Given the description of an element on the screen output the (x, y) to click on. 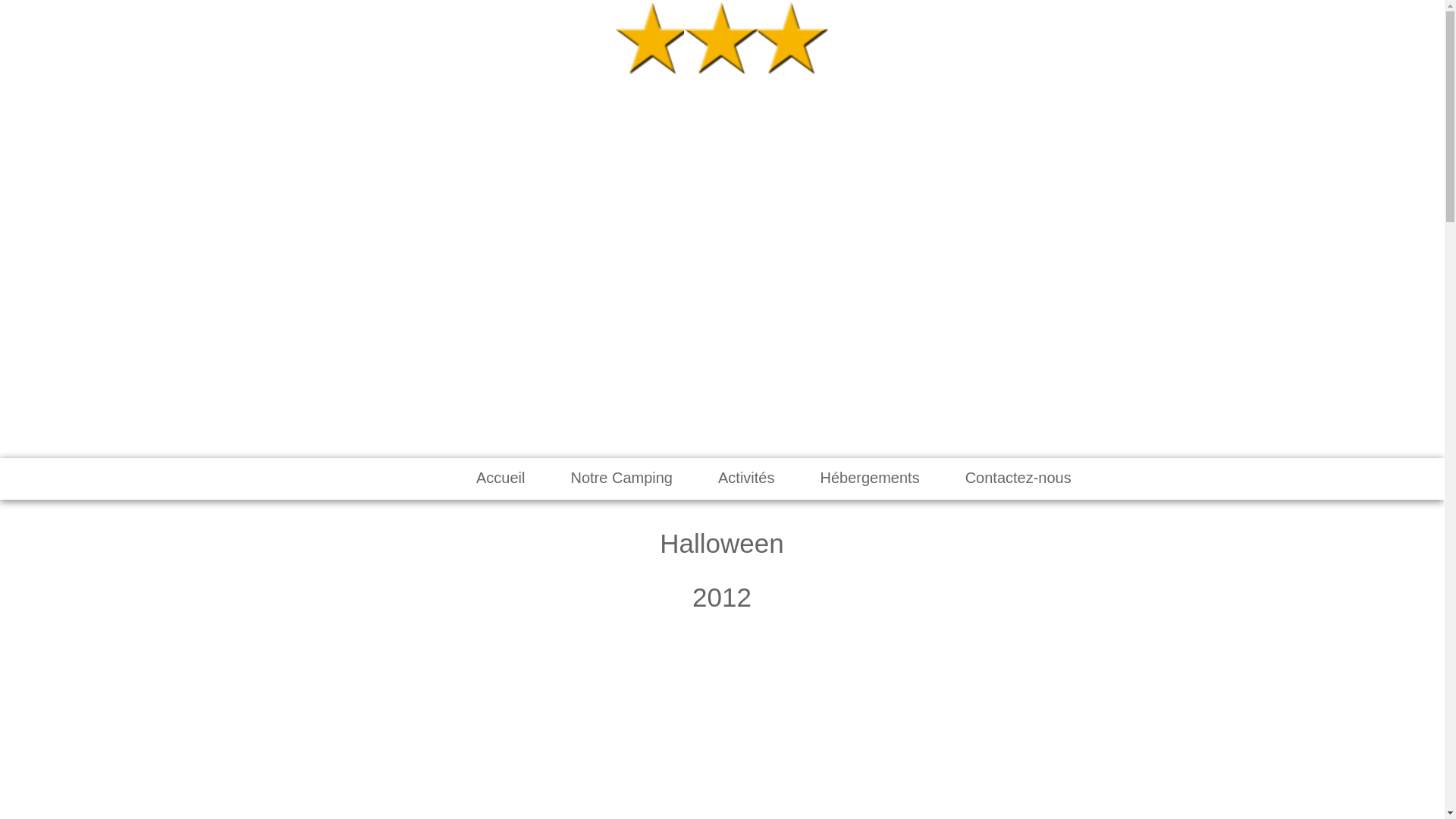
Contactez-nous Element type: text (1018, 478)
Accueil Element type: text (500, 478)
Notre Camping Element type: text (621, 478)
